Given the description of an element on the screen output the (x, y) to click on. 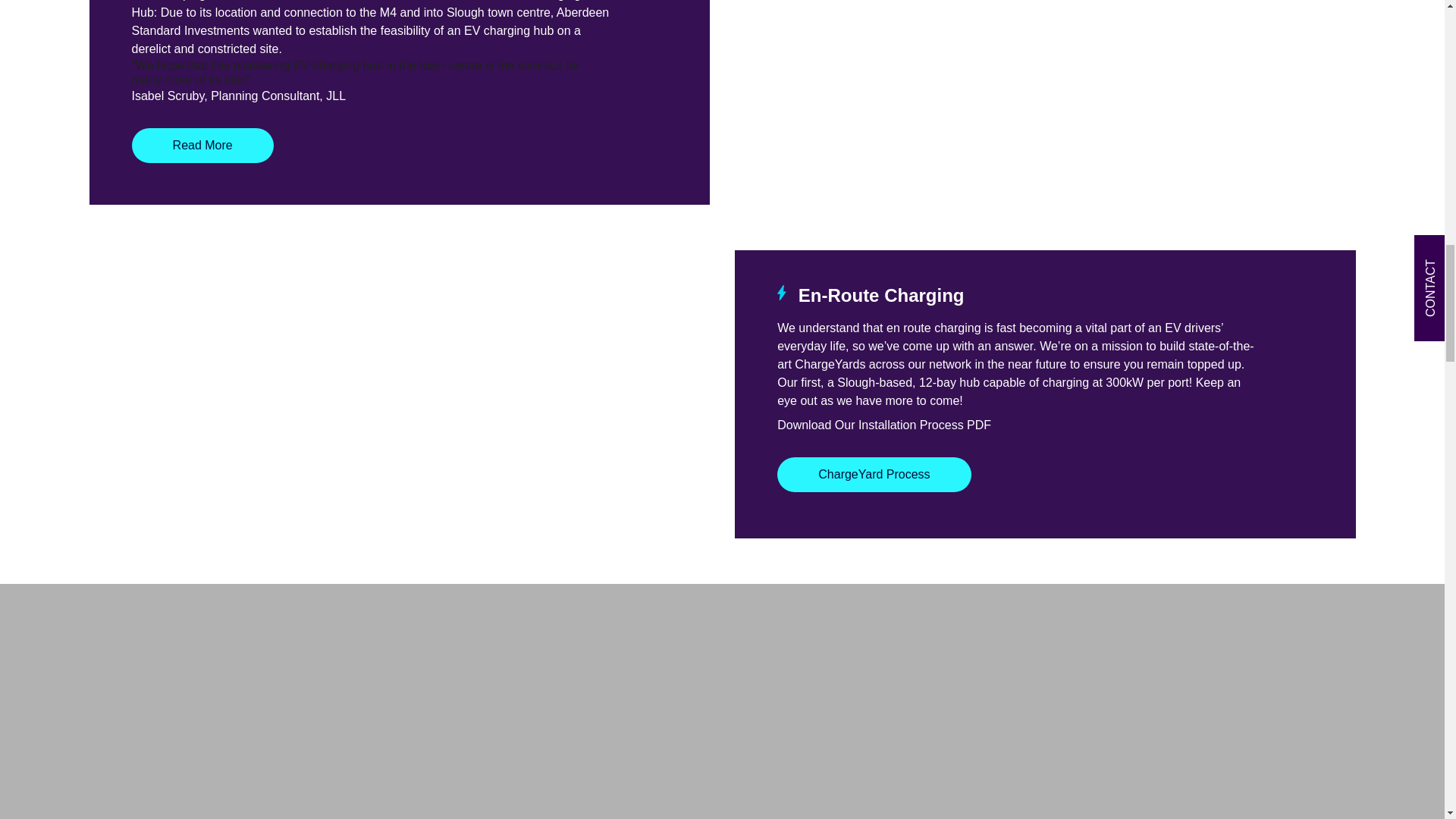
Read More (202, 144)
ChargeYard Process (874, 474)
